Given the description of an element on the screen output the (x, y) to click on. 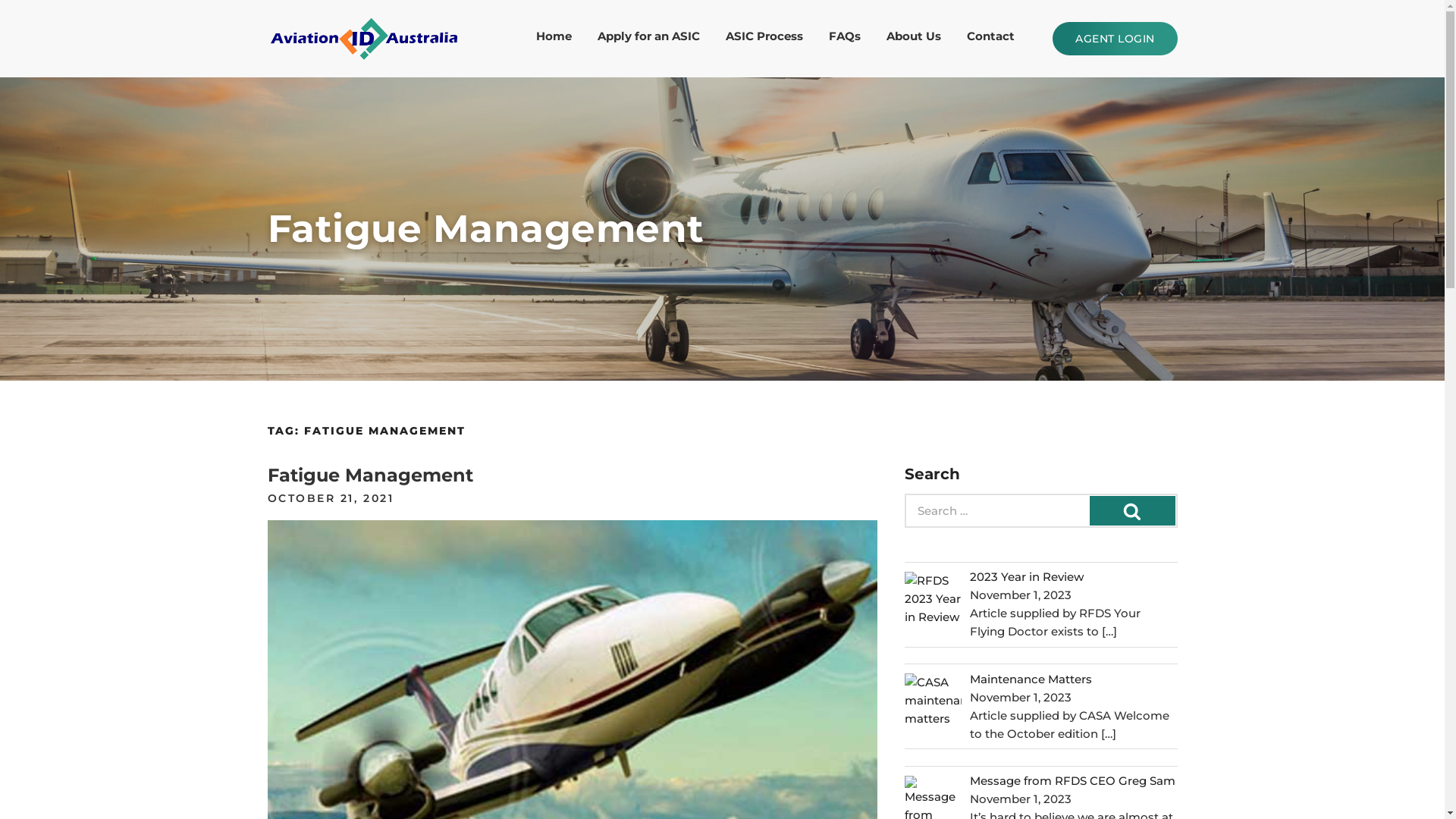
Apply for an ASIC Element type: text (648, 38)
AGENT LOGIN Element type: text (1114, 38)
OCTOBER 21, 2021 Element type: text (329, 498)
Maintenance Matters Element type: text (1030, 678)
Home Element type: text (553, 38)
About Us Element type: text (913, 38)
2023 Year in Review Element type: text (1026, 576)
Message from RFDS CEO Greg Sam Element type: text (1072, 780)
Fatigue Management Element type: text (369, 475)
ASIC Process Element type: text (764, 38)
Contact Element type: text (990, 38)
FAQs Element type: text (844, 38)
Search Element type: text (1131, 510)
